Given the description of an element on the screen output the (x, y) to click on. 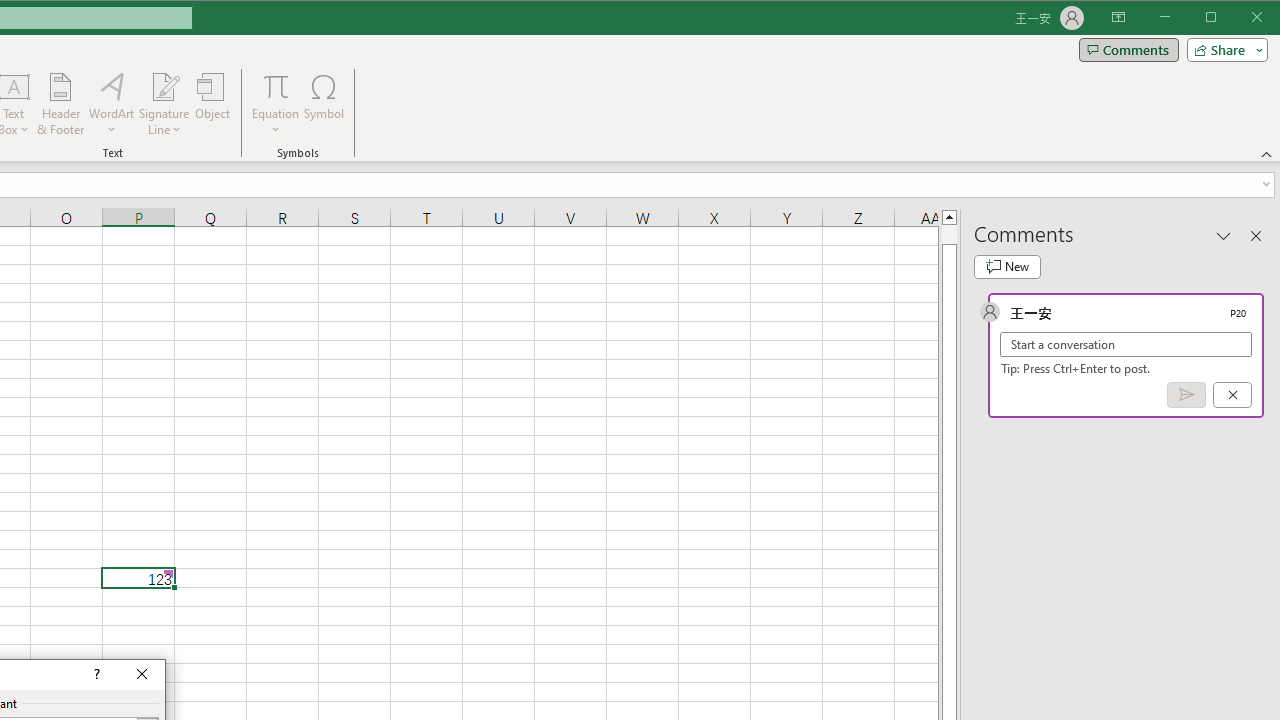
Equation (275, 86)
Header & Footer... (60, 104)
Minimize (1217, 18)
Cancel (1232, 395)
Collapse the Ribbon (1267, 154)
Symbol... (324, 104)
Signature Line (164, 104)
Task Pane Options (1224, 235)
Maximize (1239, 18)
Start a conversation (1126, 344)
Signature Line (164, 86)
Comments (1128, 49)
